Given the description of an element on the screen output the (x, y) to click on. 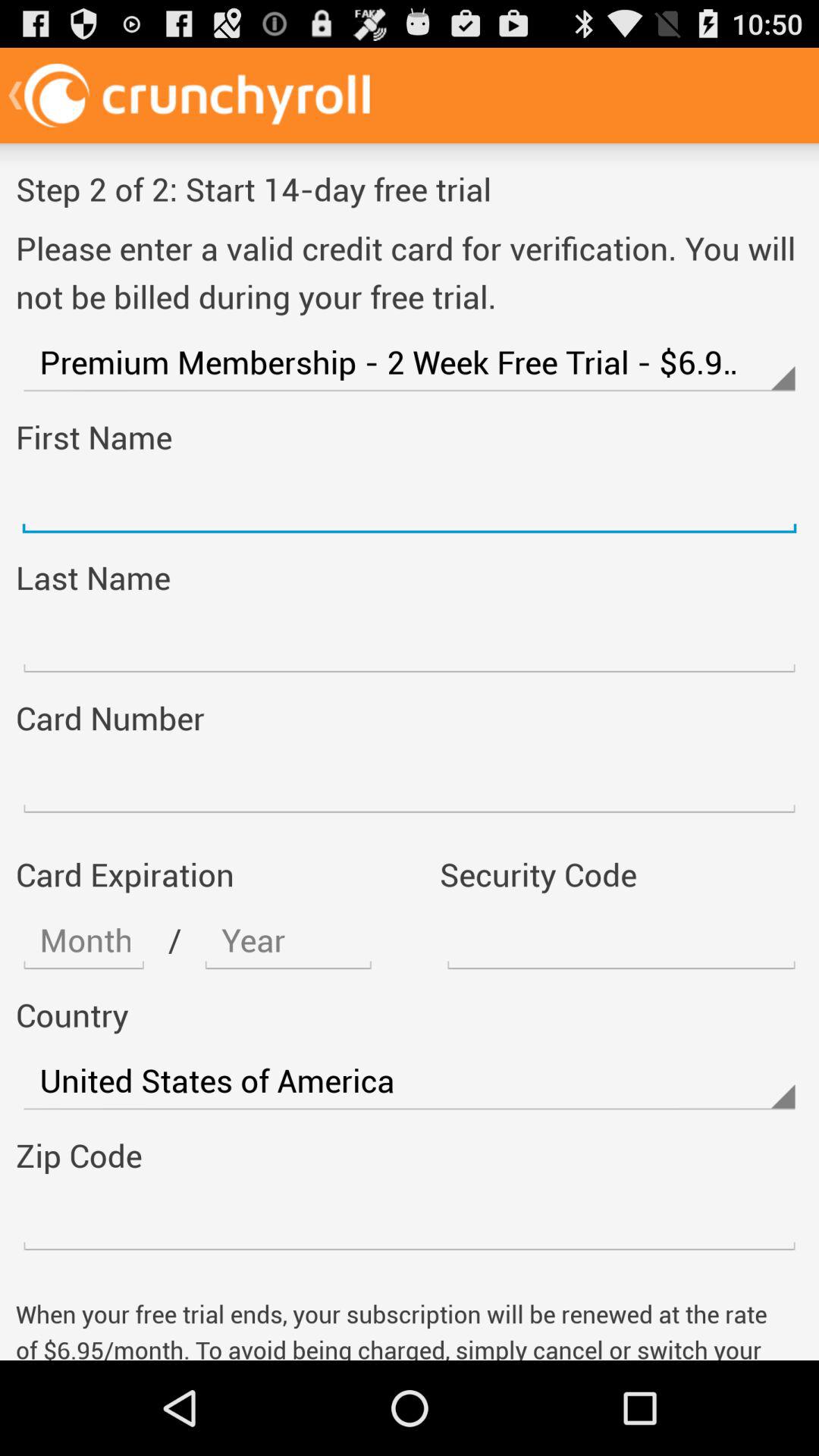
year option field (288, 940)
